Given the description of an element on the screen output the (x, y) to click on. 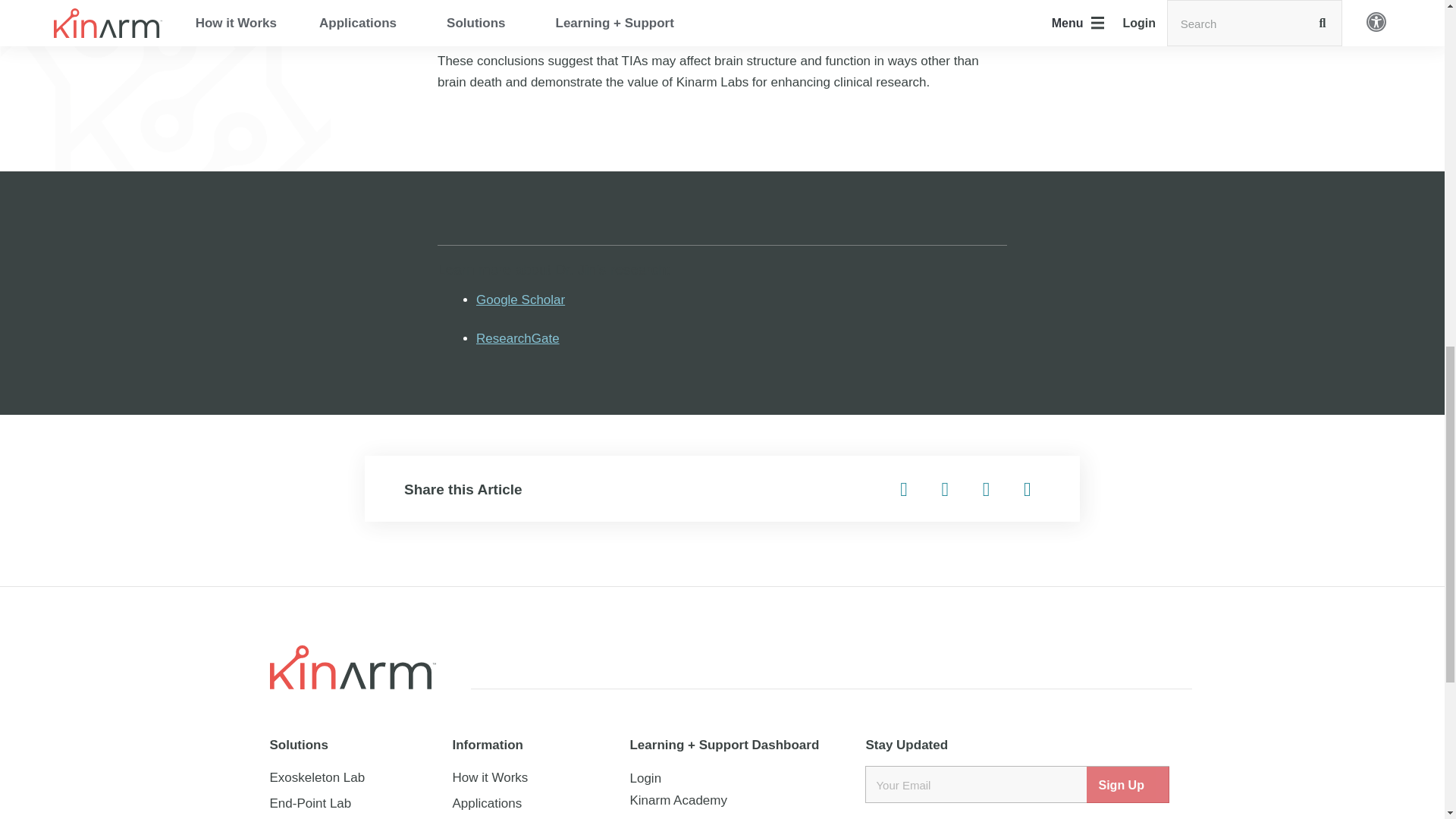
Sign Up (1128, 784)
